Given the description of an element on the screen output the (x, y) to click on. 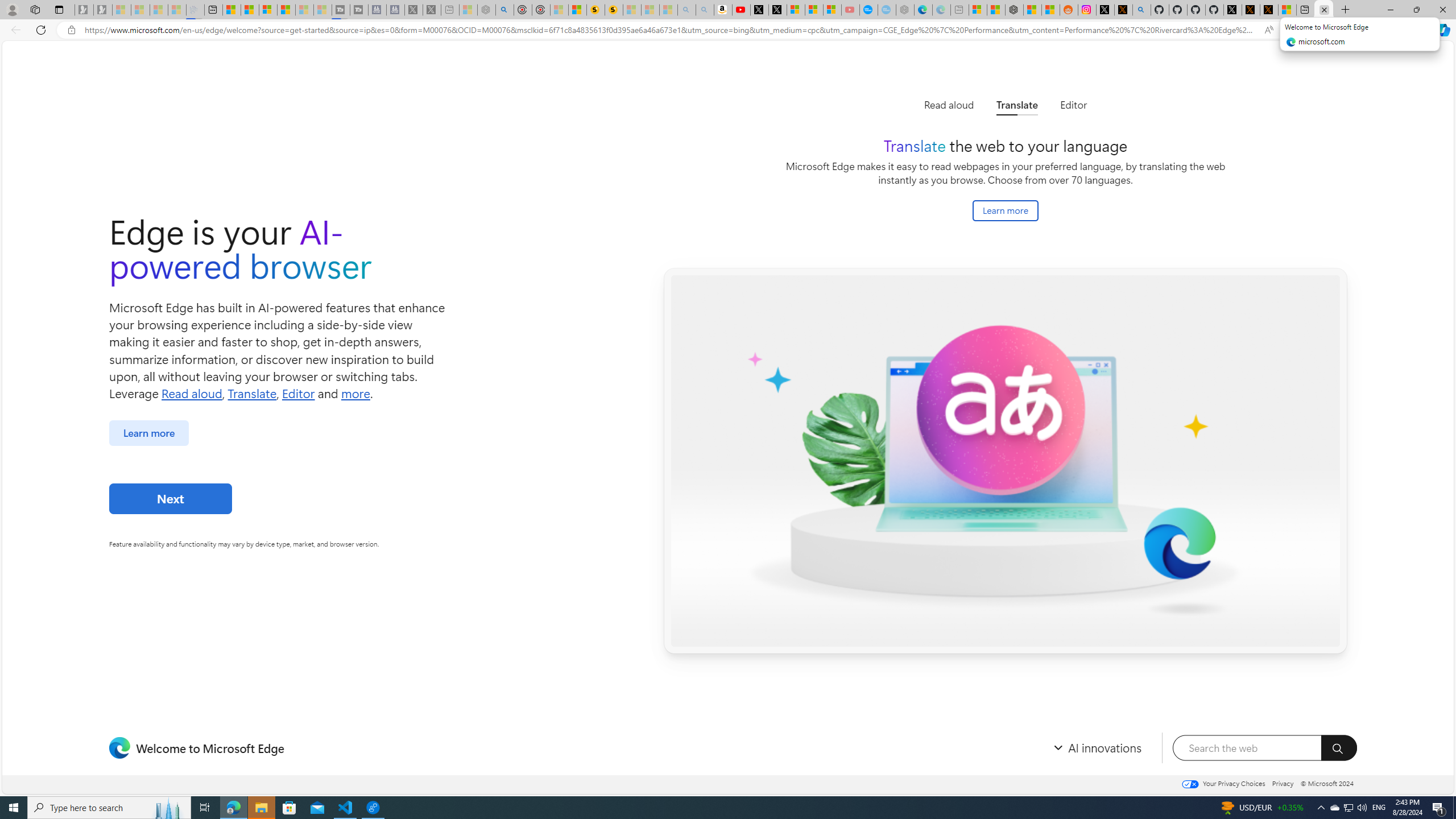
Newsletter Sign Up - Sleeping (102, 9)
The most popular Google 'how to' searches - Sleeping (887, 9)
Michelle Starr, Senior Journalist at ScienceAlert (613, 9)
Shanghai, China Weather trends | Microsoft Weather (1050, 9)
